Given the description of an element on the screen output the (x, y) to click on. 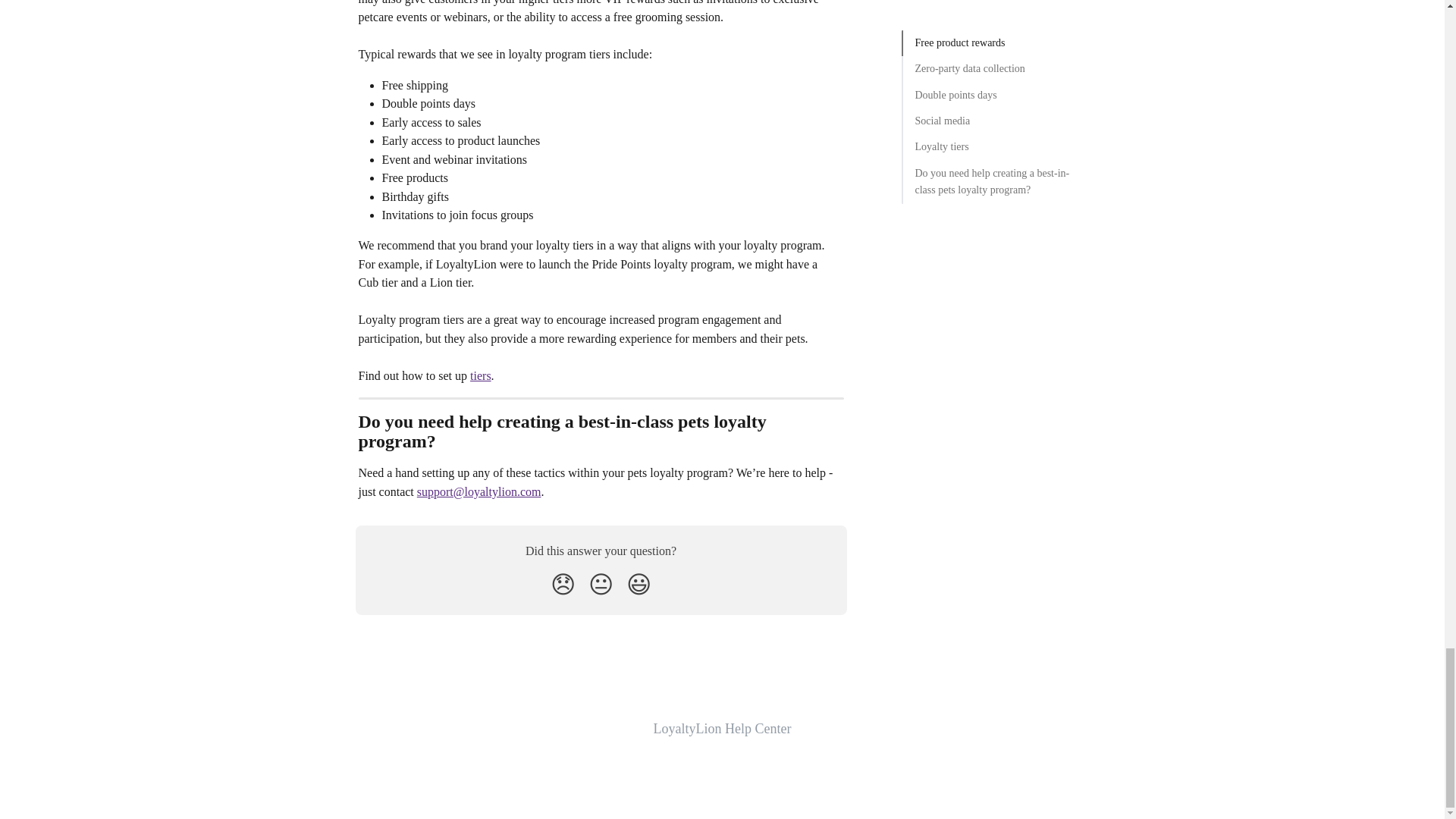
LoyaltyLion Help Center (722, 728)
Neutral (600, 584)
tiers (481, 375)
Disappointed (562, 584)
Smiley (638, 584)
